Given the description of an element on the screen output the (x, y) to click on. 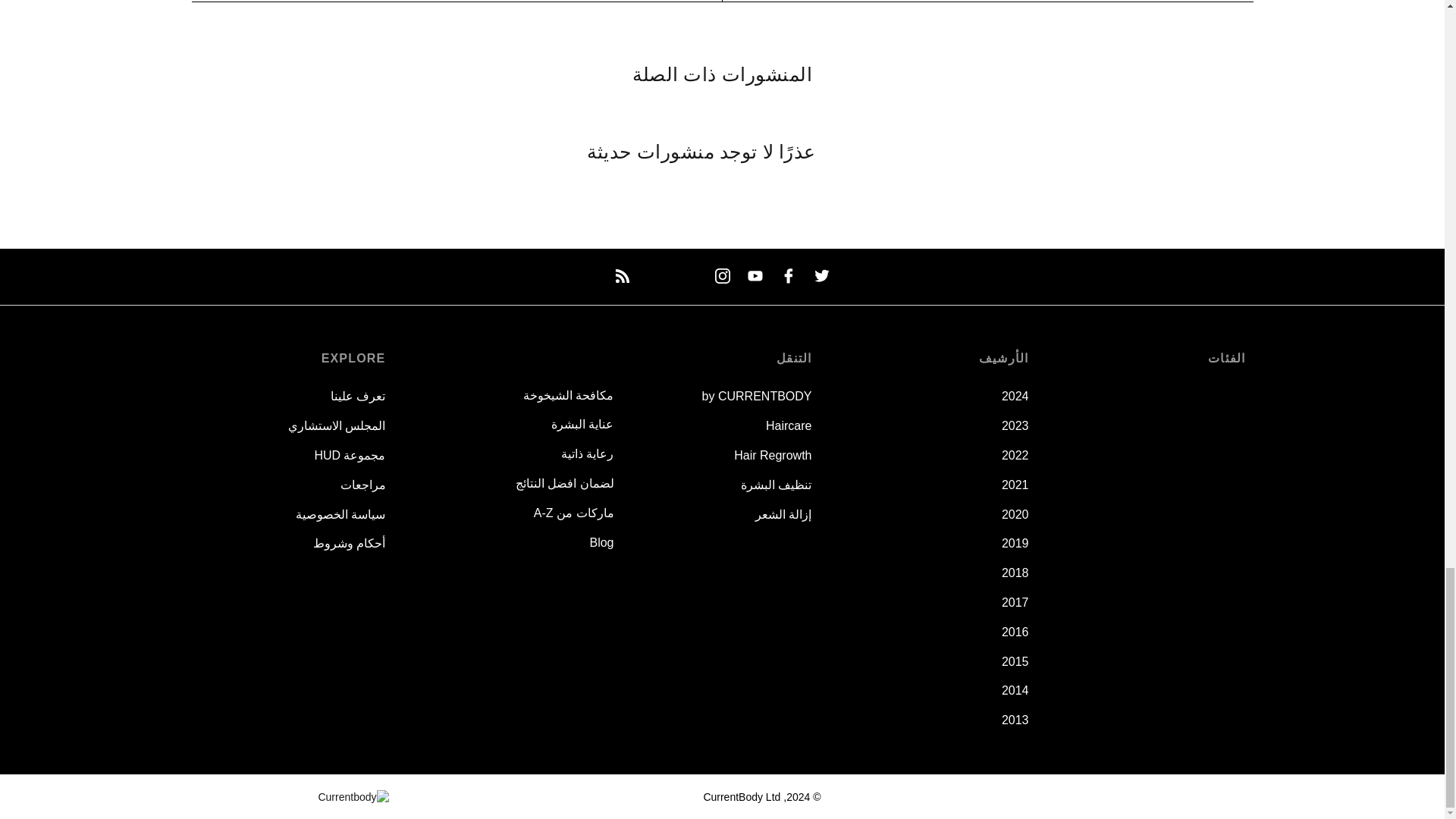
2020 (1015, 513)
TWITTER (821, 275)
2022 (1015, 454)
2016 (1015, 631)
WECHAT (689, 275)
2021 (1015, 484)
2018 (1015, 572)
2023 (1015, 425)
2024 (1015, 395)
WEIBO (655, 275)
2017 (1015, 602)
FACEBOOK (788, 275)
RSS (622, 275)
YOUTUBE (755, 275)
INSTAGRAM (721, 275)
